Given the description of an element on the screen output the (x, y) to click on. 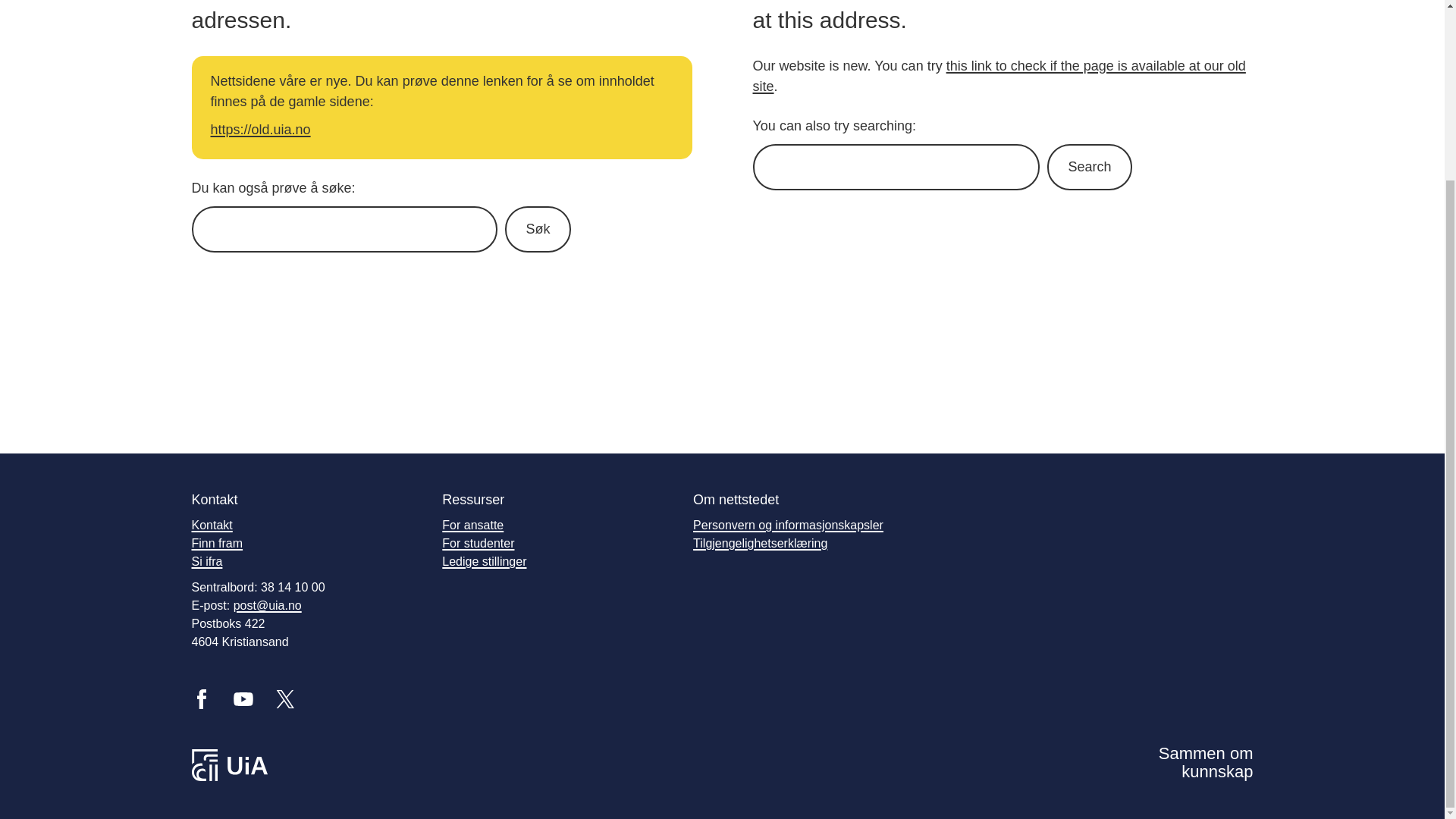
For studenter (477, 543)
Finn fram (216, 543)
Tiktok (453, 699)
Facebook (200, 699)
Snapchat (411, 699)
Si ifra (206, 561)
LinkedIn (327, 699)
Personvern og informasjonskapsler (788, 524)
For ansatte (472, 524)
Search (1088, 167)
